Given the description of an element on the screen output the (x, y) to click on. 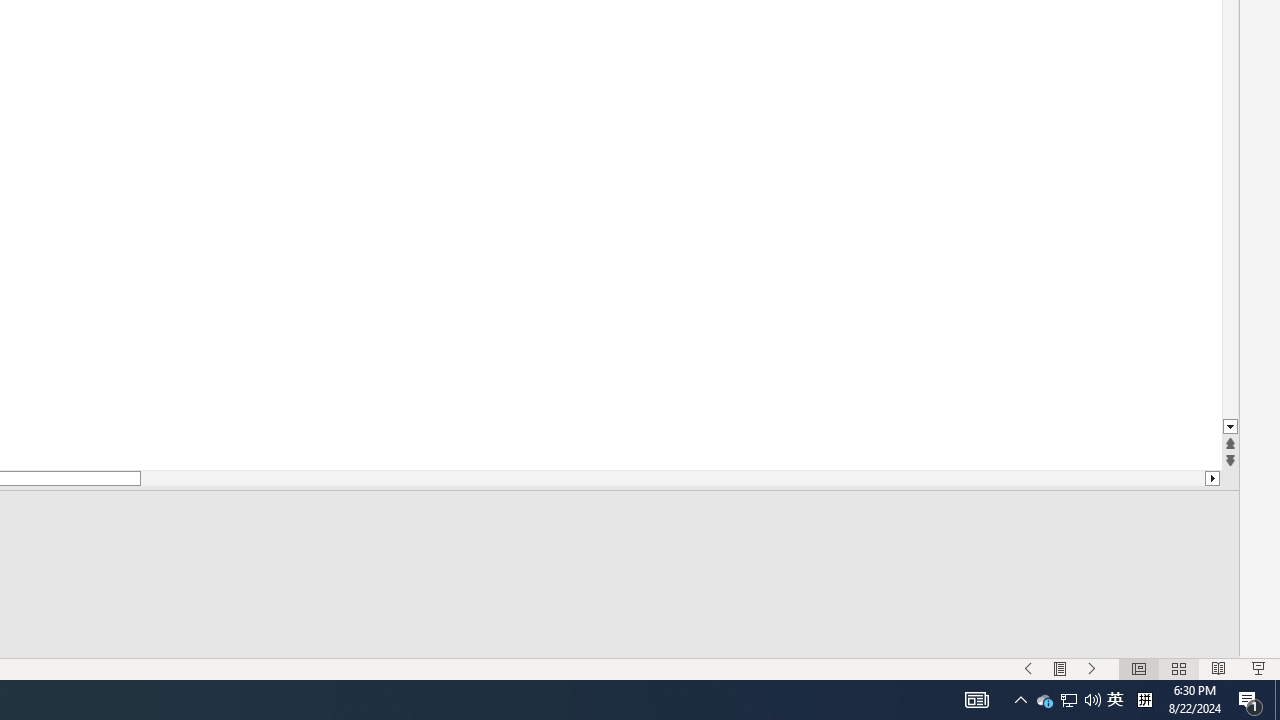
Slide Show Next On (1092, 668)
Menu On (1060, 668)
Slide Show Previous On (1028, 668)
